Given the description of an element on the screen output the (x, y) to click on. 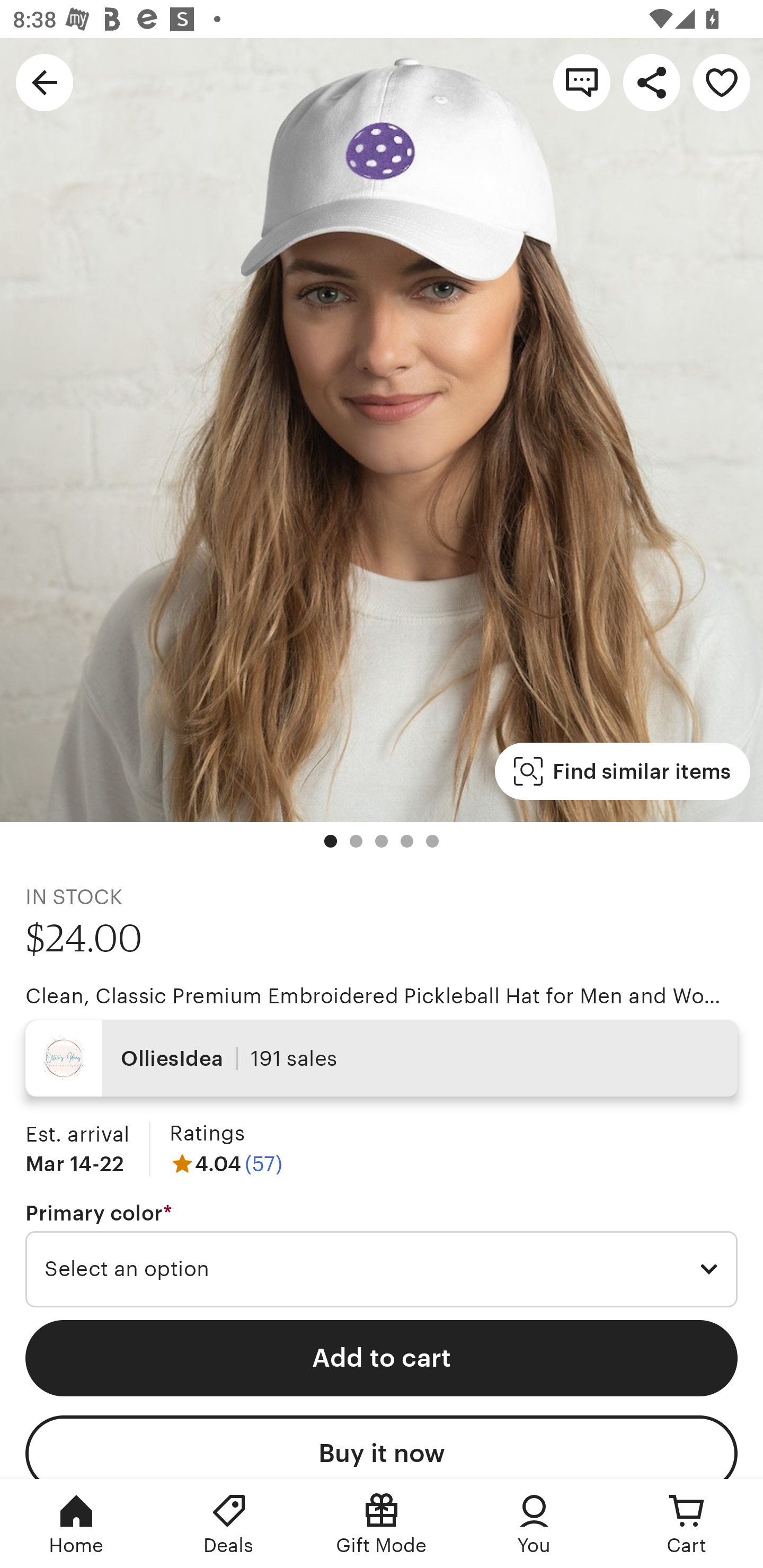
Navigate up (44, 81)
Contact shop (581, 81)
Share (651, 81)
Find similar items (622, 771)
OlliesIdea 191 sales (381, 1058)
Ratings (206, 1133)
4.04 (57) (226, 1163)
Primary color * Required Select an option (381, 1254)
Select an option (381, 1268)
Add to cart (381, 1358)
Buy it now (381, 1446)
Deals (228, 1523)
Gift Mode (381, 1523)
You (533, 1523)
Cart (686, 1523)
